Given the description of an element on the screen output the (x, y) to click on. 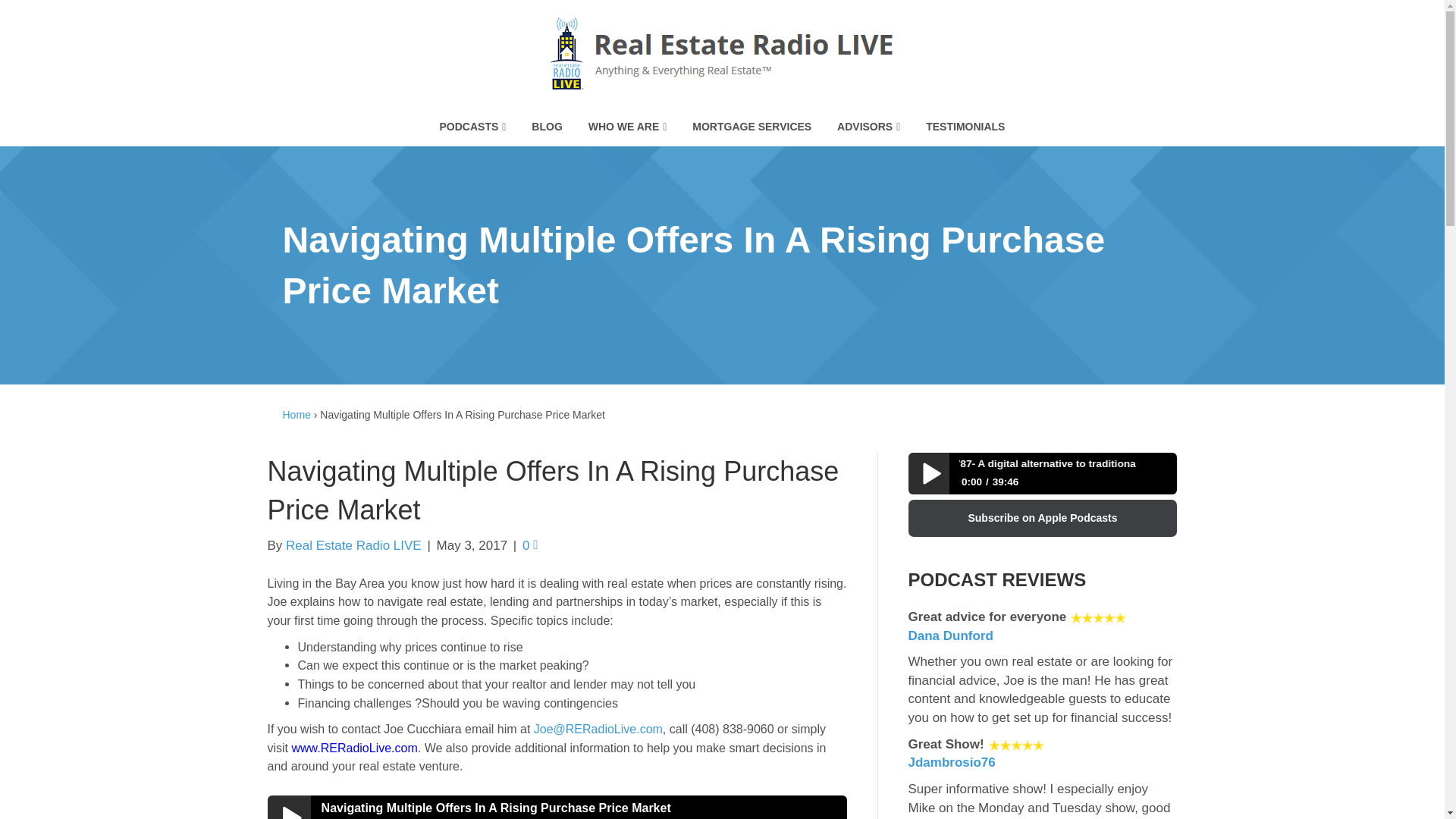
Home (296, 414)
0 (529, 545)
BLOG (546, 127)
PODCASTS (473, 127)
Real Estate Radio LIVE (353, 545)
WHO WE ARE (627, 127)
TESTIMONIALS (965, 127)
ADVISORS (868, 127)
MORTGAGE SERVICES (751, 127)
